Given the description of an element on the screen output the (x, y) to click on. 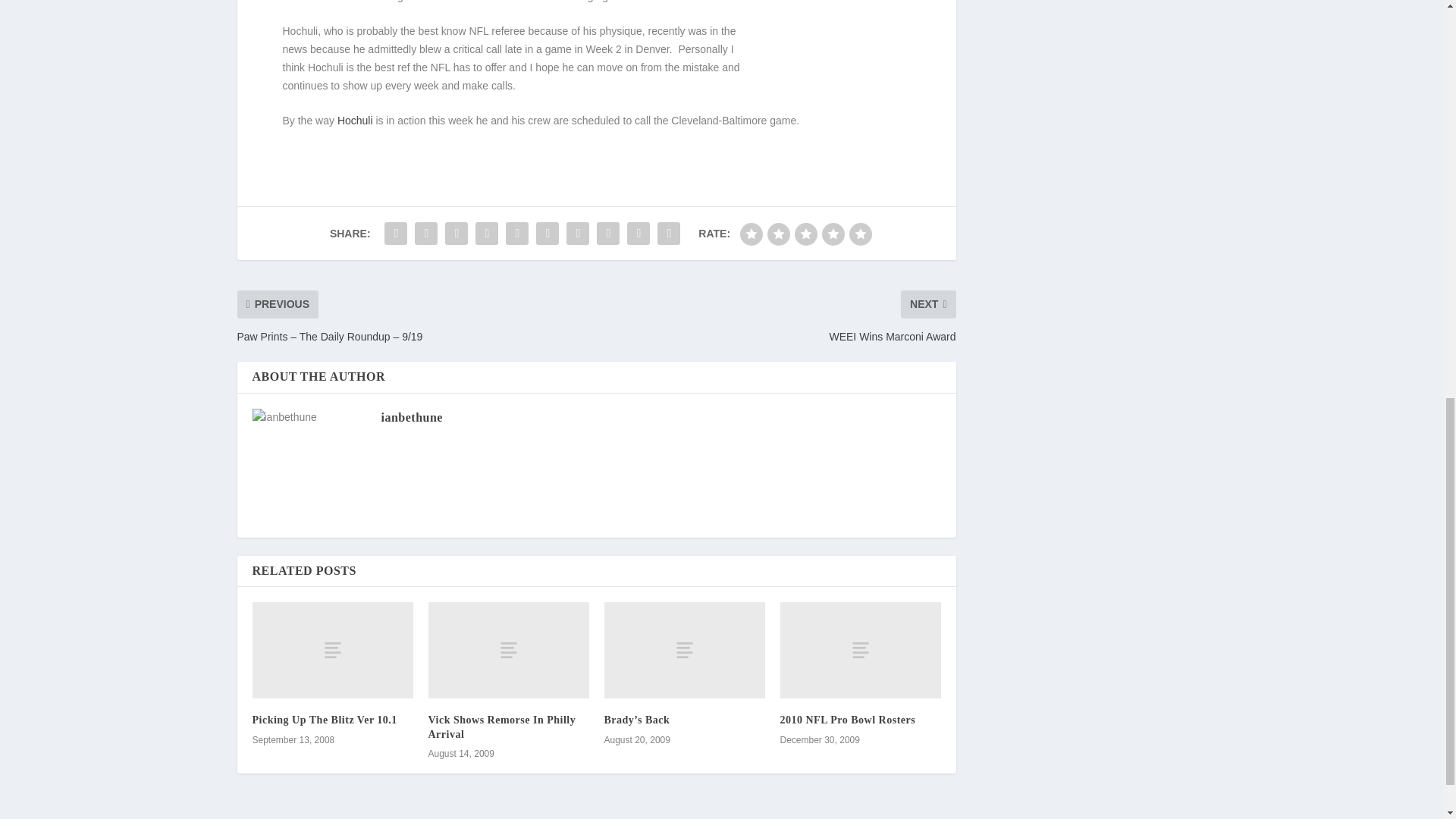
Hochuli signaling a holding call (834, 54)
